Given the description of an element on the screen output the (x, y) to click on. 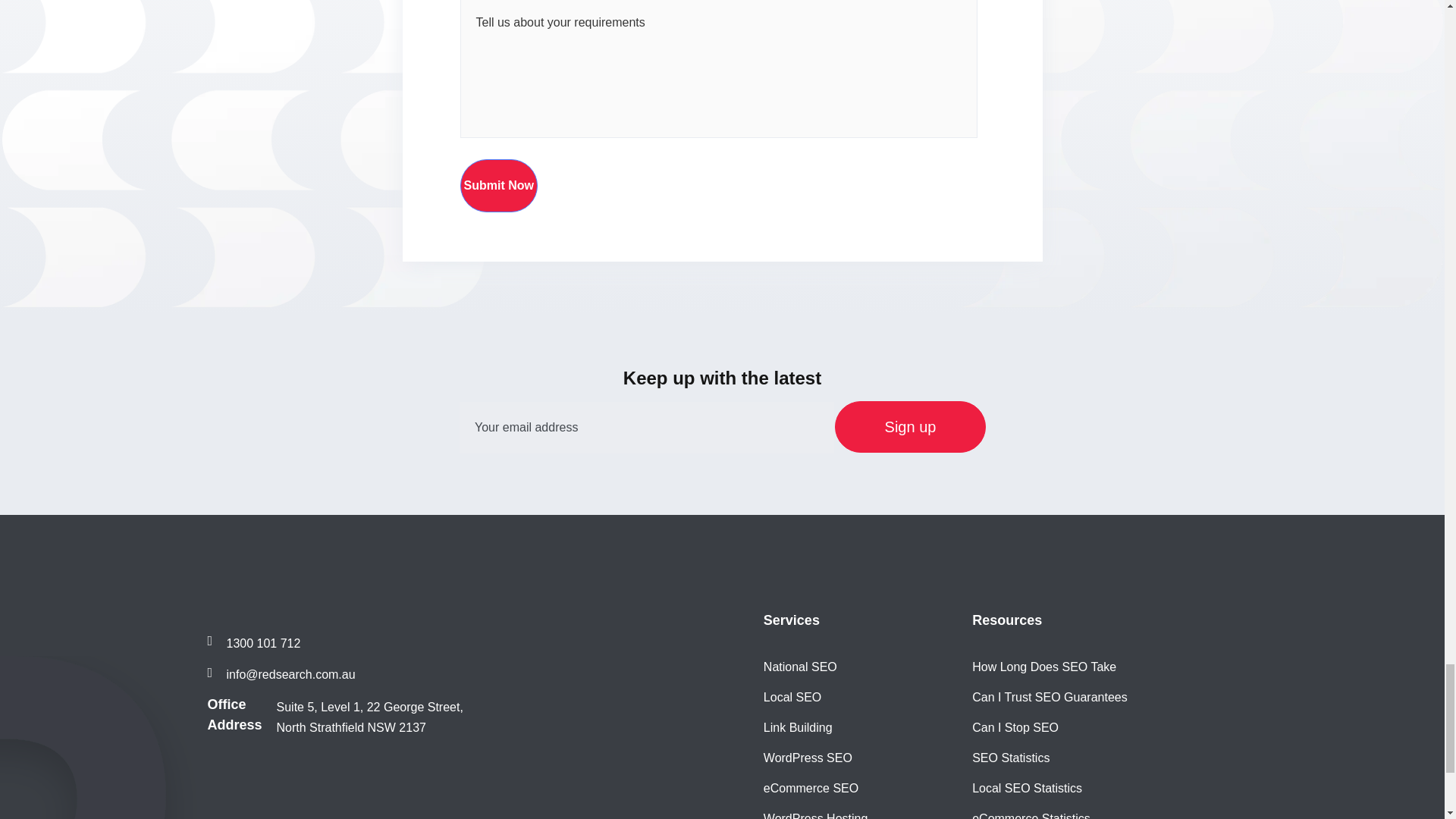
Services (790, 620)
Submit Now (498, 185)
Call Us on 1300 101 712 (254, 644)
Resources (1007, 620)
Sign up (909, 426)
